Given the description of an element on the screen output the (x, y) to click on. 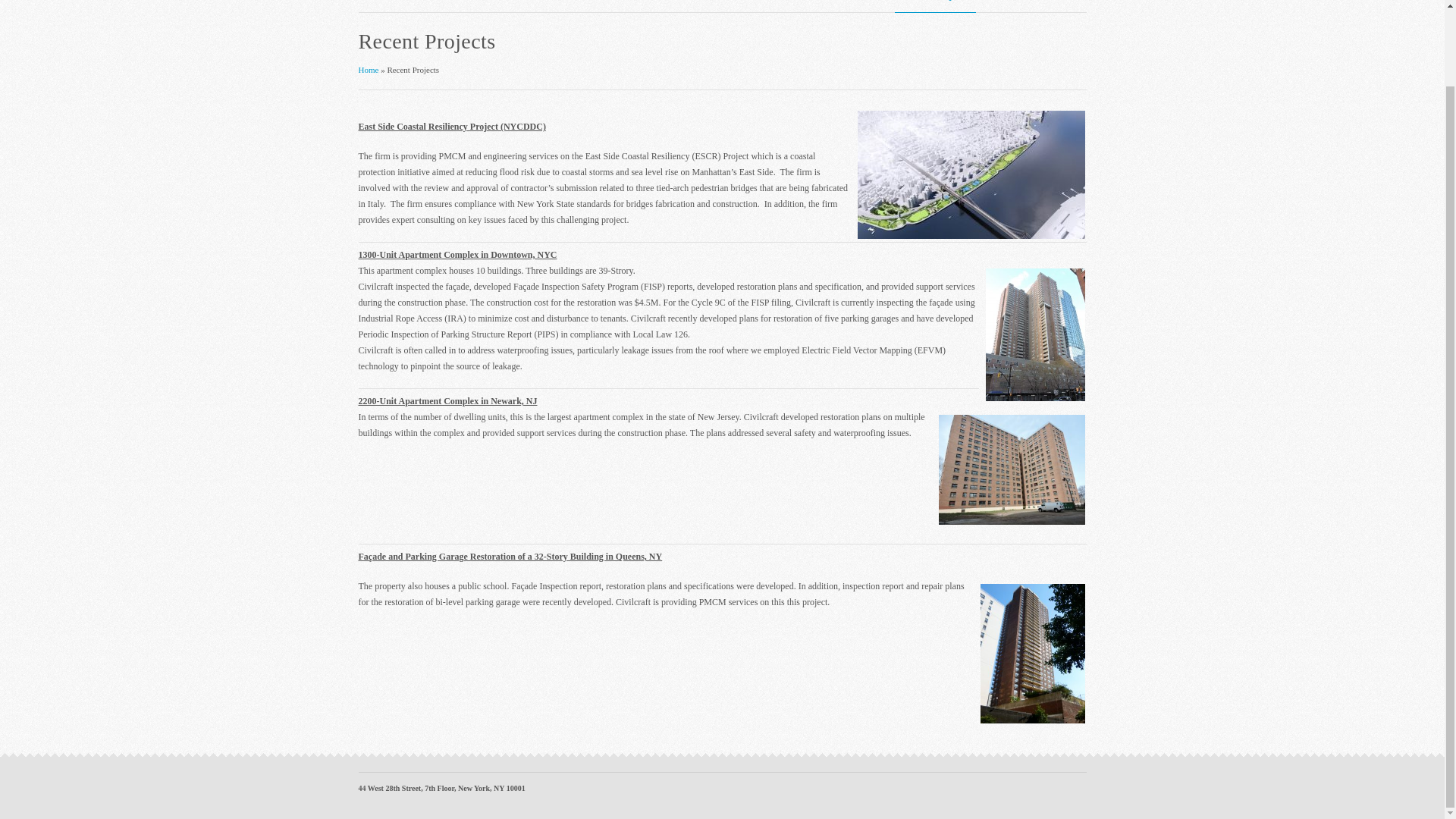
Careers (1062, 7)
Civilcraft Engineering LLC (368, 69)
Home (825, 7)
Home (368, 69)
Contact Us (1006, 7)
Recent Projects (935, 7)
Services (870, 7)
